Given the description of an element on the screen output the (x, y) to click on. 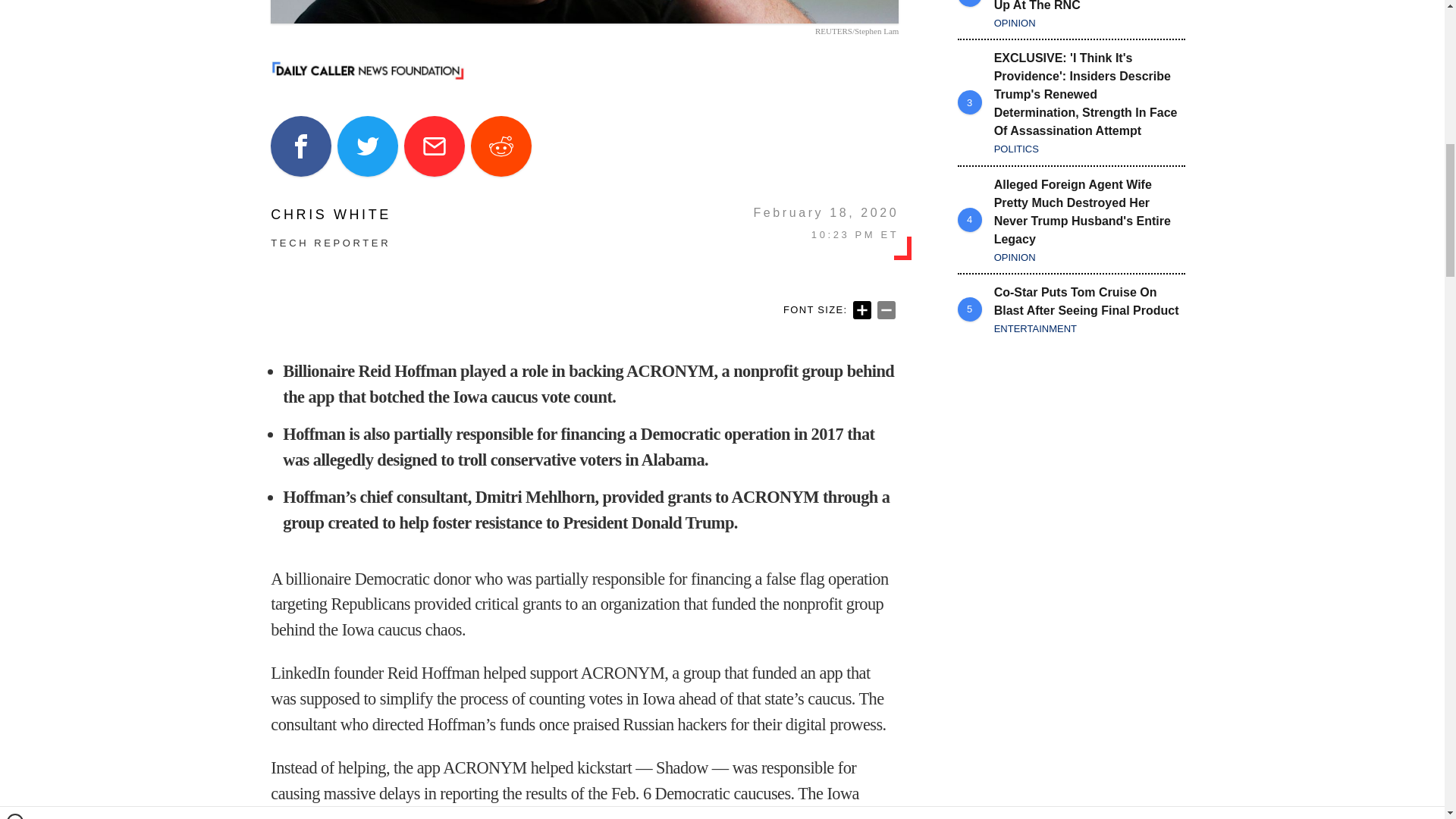
CHRIS WHITE (330, 214)
Close window (14, 6)
View More Articles By Chris White (330, 214)
